Given the description of an element on the screen output the (x, y) to click on. 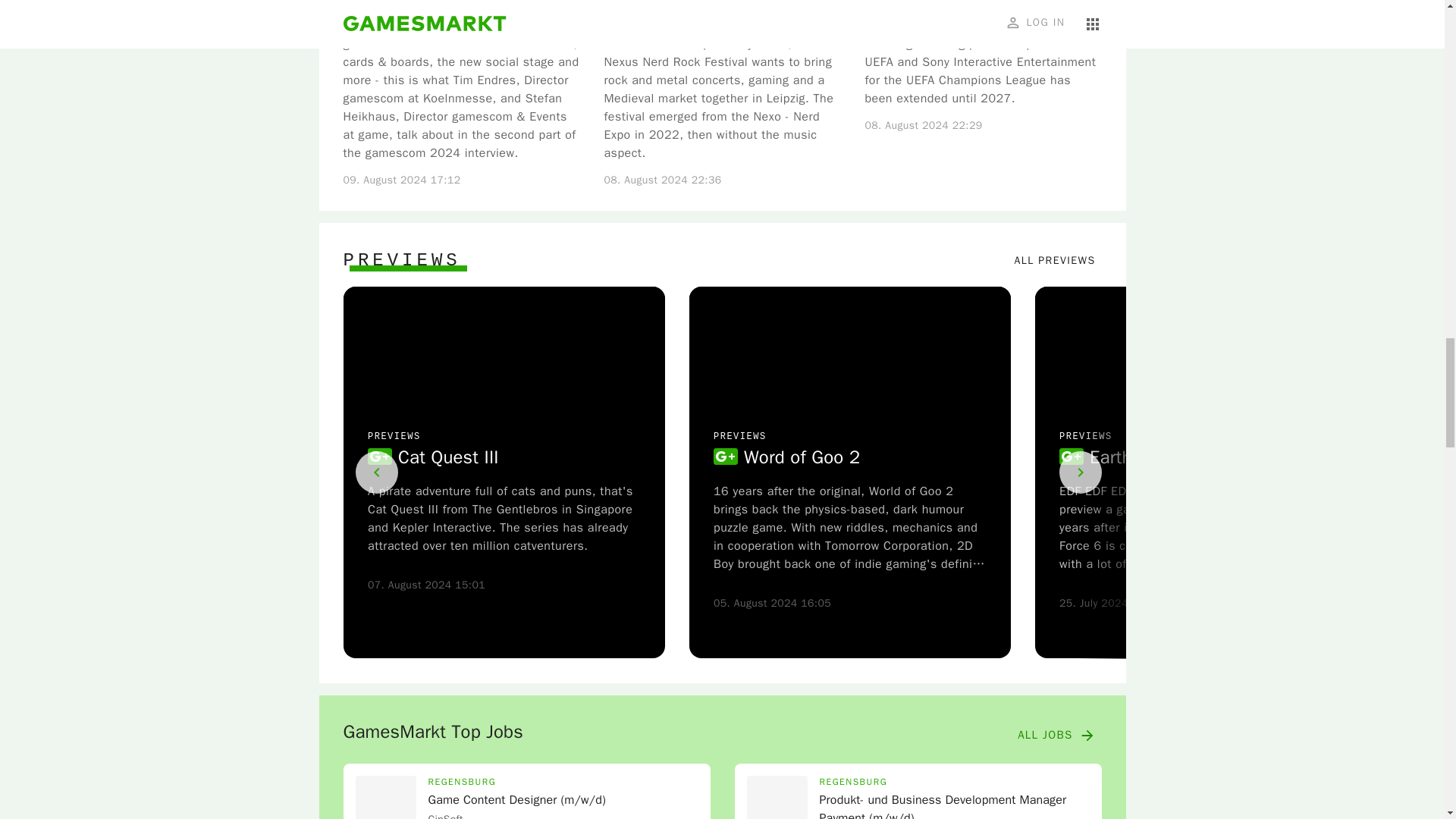
ALL PREVIEWS (1055, 260)
